Given the description of an element on the screen output the (x, y) to click on. 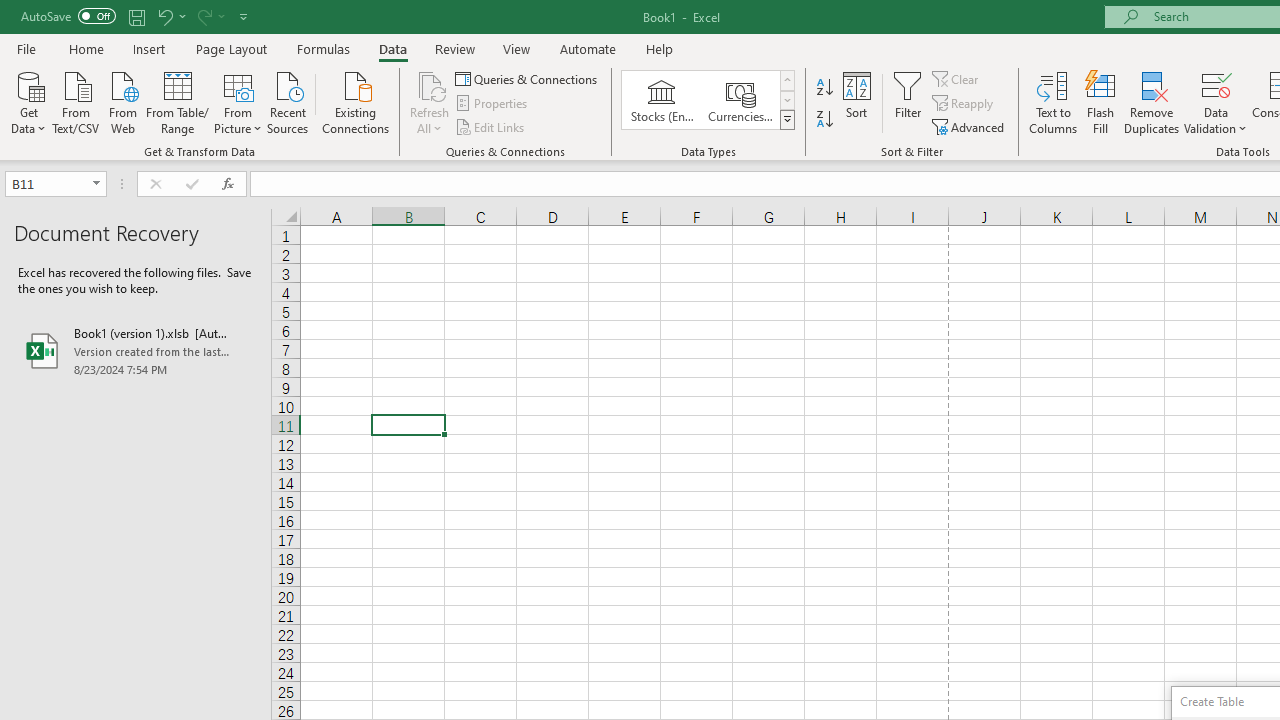
View (517, 48)
Formulas (323, 48)
Stocks (English) (662, 100)
Sort Z to A (824, 119)
Automate (588, 48)
Sort... (856, 102)
Help (660, 48)
Clear (957, 78)
File Tab (26, 48)
More Options (1215, 121)
Data Validation... (1215, 84)
From Text/CSV (75, 101)
